Given the description of an element on the screen output the (x, y) to click on. 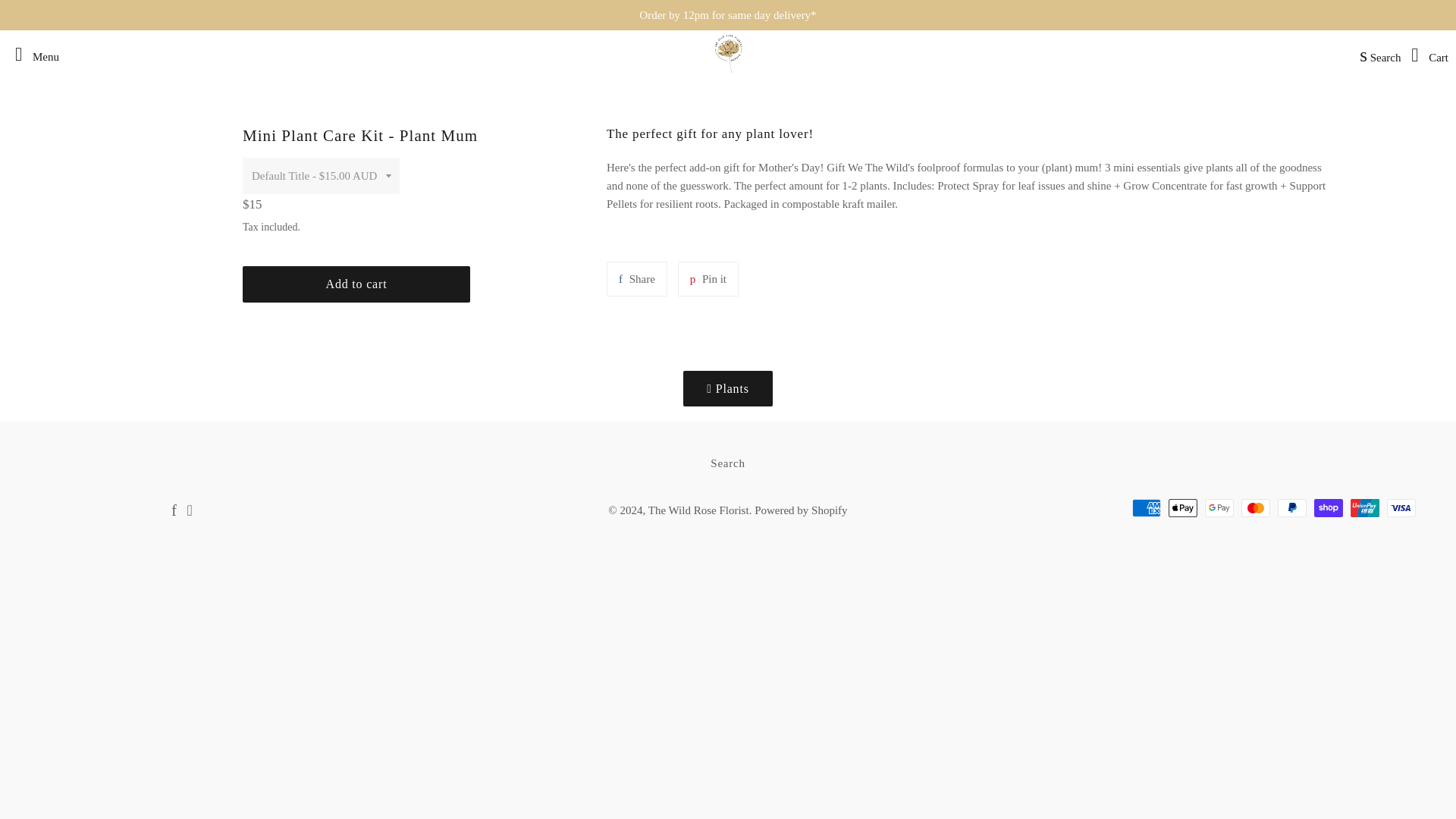
Mastercard (1255, 507)
PayPal (1292, 507)
Share on Facebook (636, 278)
Google Pay (1219, 507)
American Express (1146, 507)
Shop Pay (1328, 507)
Union Pay (1364, 507)
Apple Pay (1182, 507)
Visa (1401, 507)
Pin on Pinterest (708, 278)
